Given the description of an element on the screen output the (x, y) to click on. 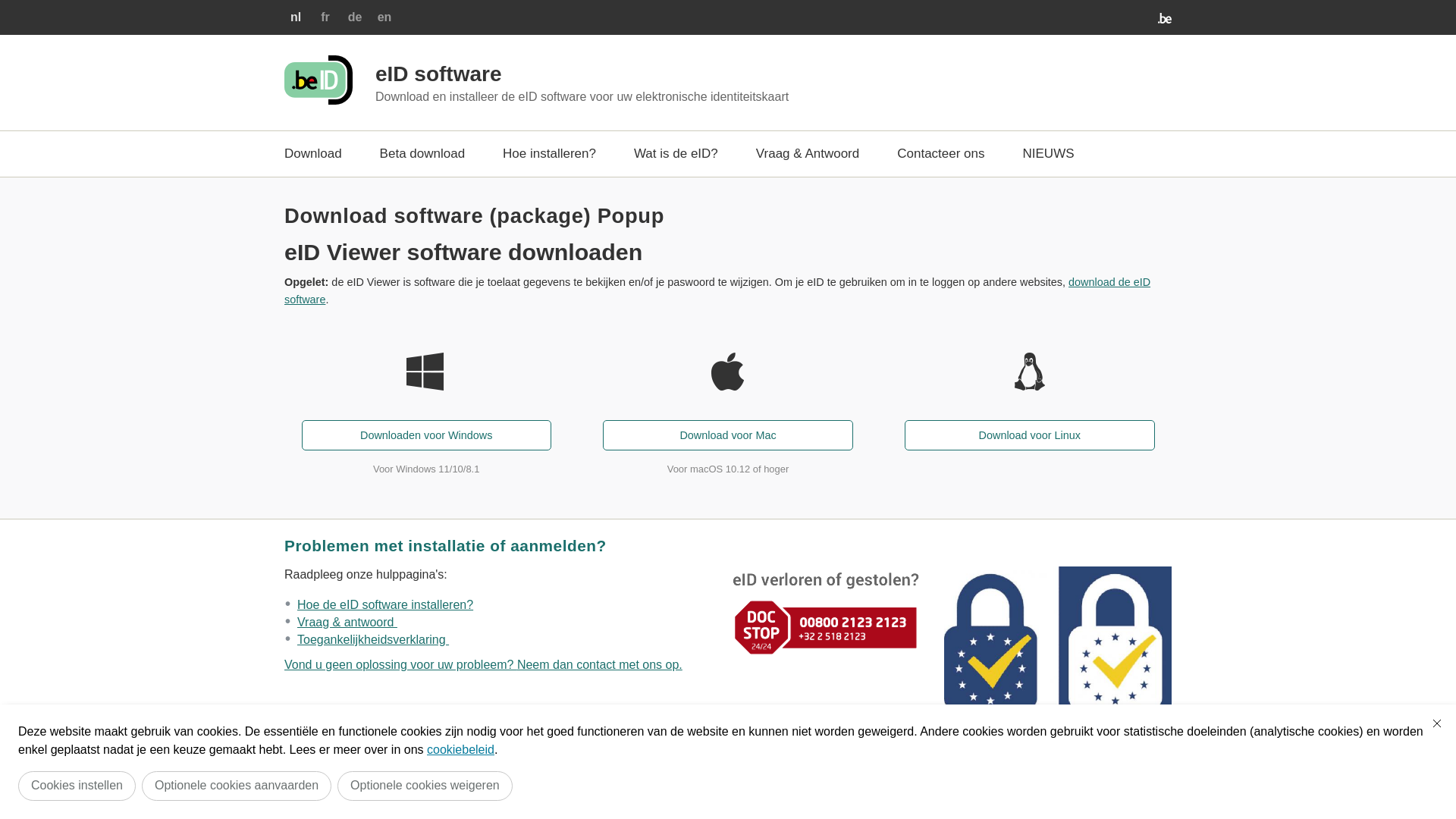
Neem dan contact met ons op. Element type: text (599, 664)
Download voor Mac Element type: text (727, 435)
Overslaan en naar de inhoud gaan Element type: text (7, 4)
Optionele cookies weigeren Element type: text (424, 785)
nl Element type: text (295, 17)
Vraag & Antwoord Element type: text (807, 153)
download de eID software Element type: text (717, 290)
Hoe installeren? Element type: text (549, 153)
cookiebeleid Element type: text (460, 749)
Gebruikersvoorwaarden Element type: text (433, 767)
en Element type: text (384, 17)
fr Element type: text (324, 17)
Cookies instellen Element type: text (76, 785)
Optionele cookies aanvaarden Element type: text (236, 785)
Downloaden voor Windows Element type: text (426, 435)
Back to the home page Element type: hover (318, 100)
Hoe de eID software installeren? Element type: text (385, 604)
Vond u geen oplossing voor uw probleem? Element type: text (400, 664)
Download voor Linux Element type: text (1029, 435)
Vraag & antwoord  Element type: text (347, 621)
Cookiebeleid Element type: text (547, 767)
de Element type: text (355, 17)
Wat is de eID? Element type: text (675, 153)
Beta download Element type: text (421, 153)
Download Element type: text (313, 153)
Toegankelijkheidsverklaring  Element type: text (372, 639)
Contacteer ons Element type: text (940, 153)
Sluiten Element type: hover (1436, 723)
NIEUWS Element type: text (1048, 153)
